Given the description of an element on the screen output the (x, y) to click on. 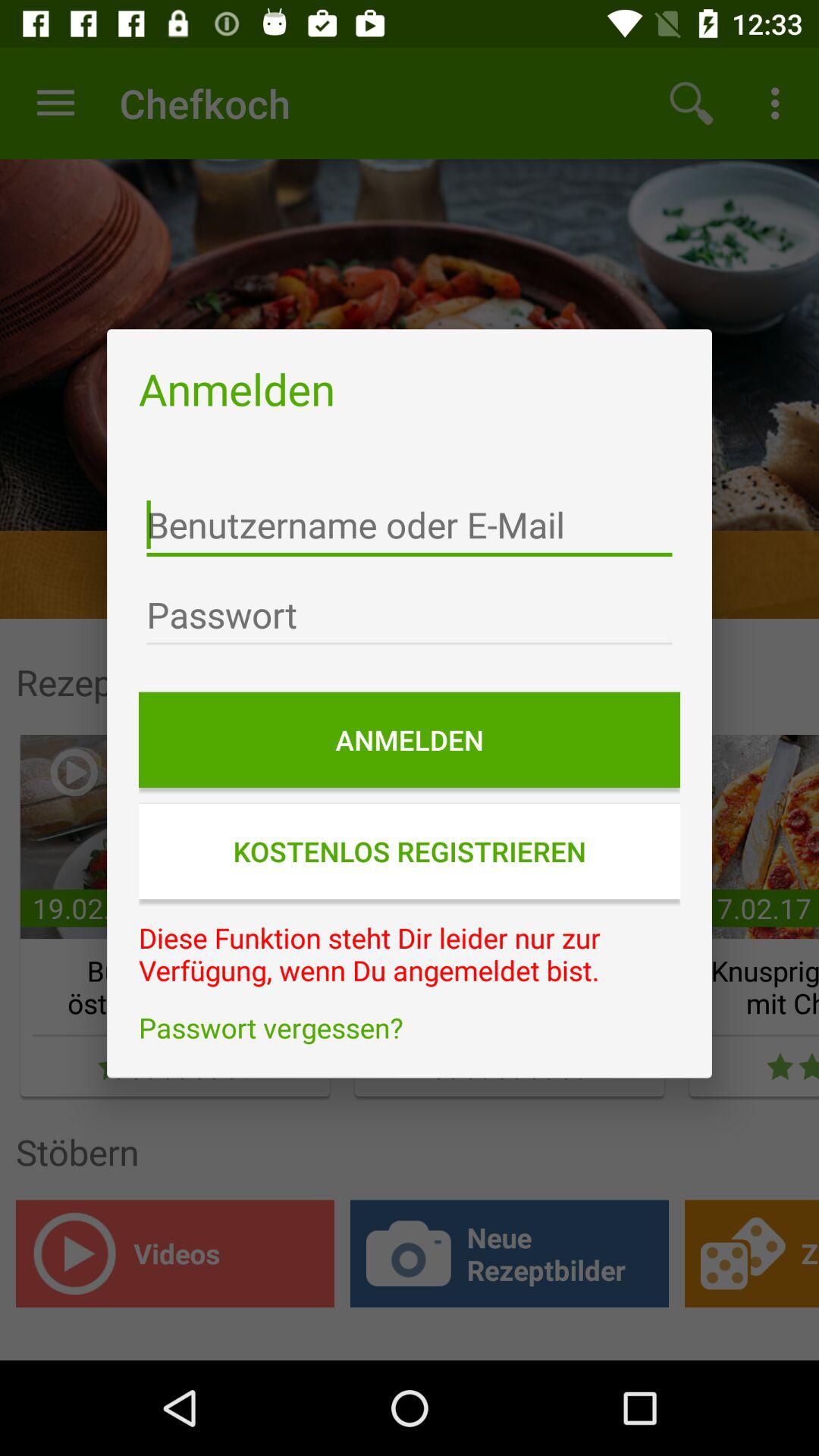
user email (409, 525)
